Given the description of an element on the screen output the (x, y) to click on. 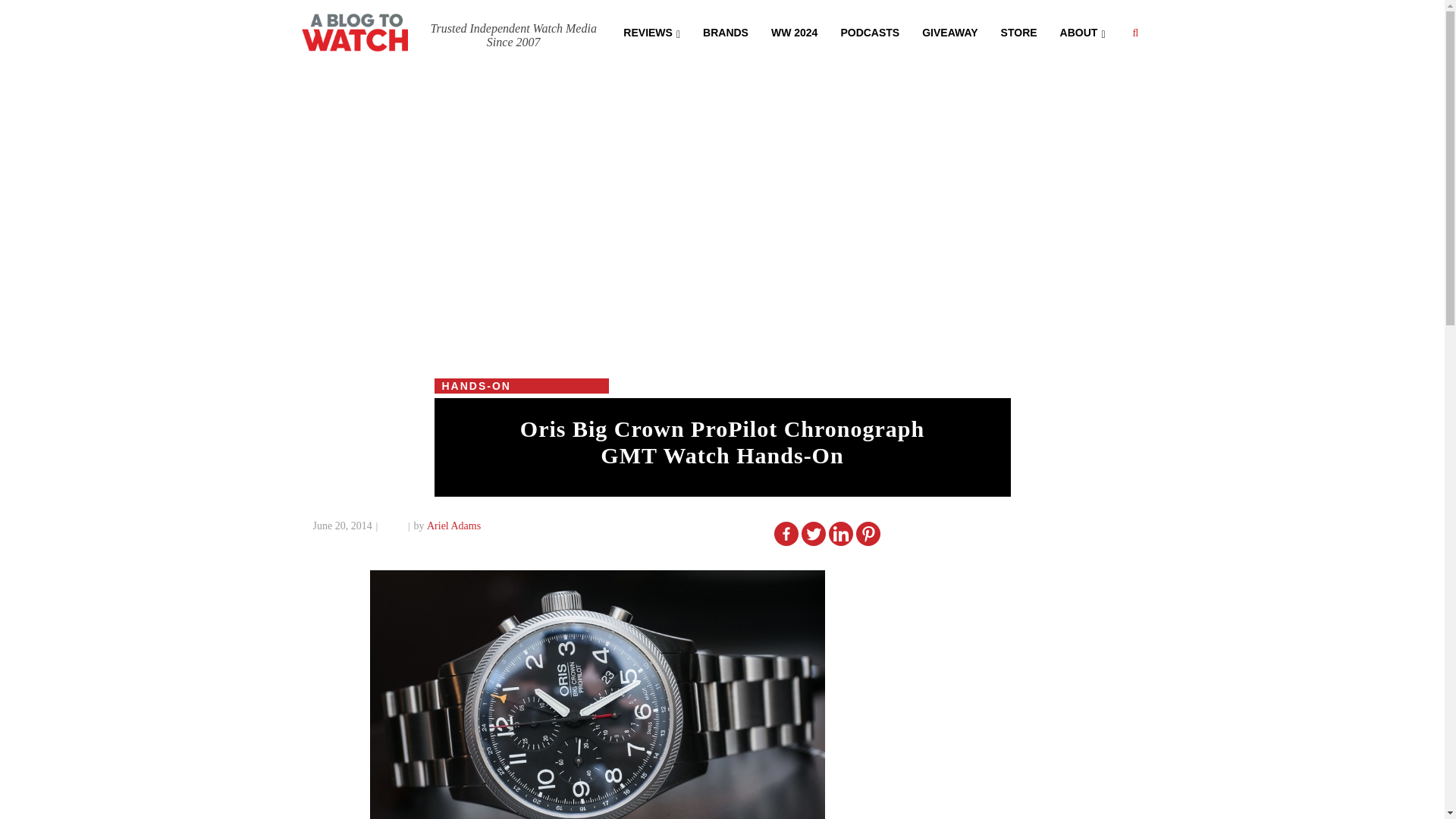
Linkedin (839, 533)
Twitter (812, 533)
REVIEWS (651, 31)
ABOUT (1082, 31)
PODCASTS (869, 31)
WW 2024 (794, 31)
Guides to help you when buying watches (794, 31)
GIVEAWAY (949, 31)
Oris Big Crown ProPilot Chronograph GMT Watch Hands-On (722, 442)
Pinterest (867, 533)
